Given the description of an element on the screen output the (x, y) to click on. 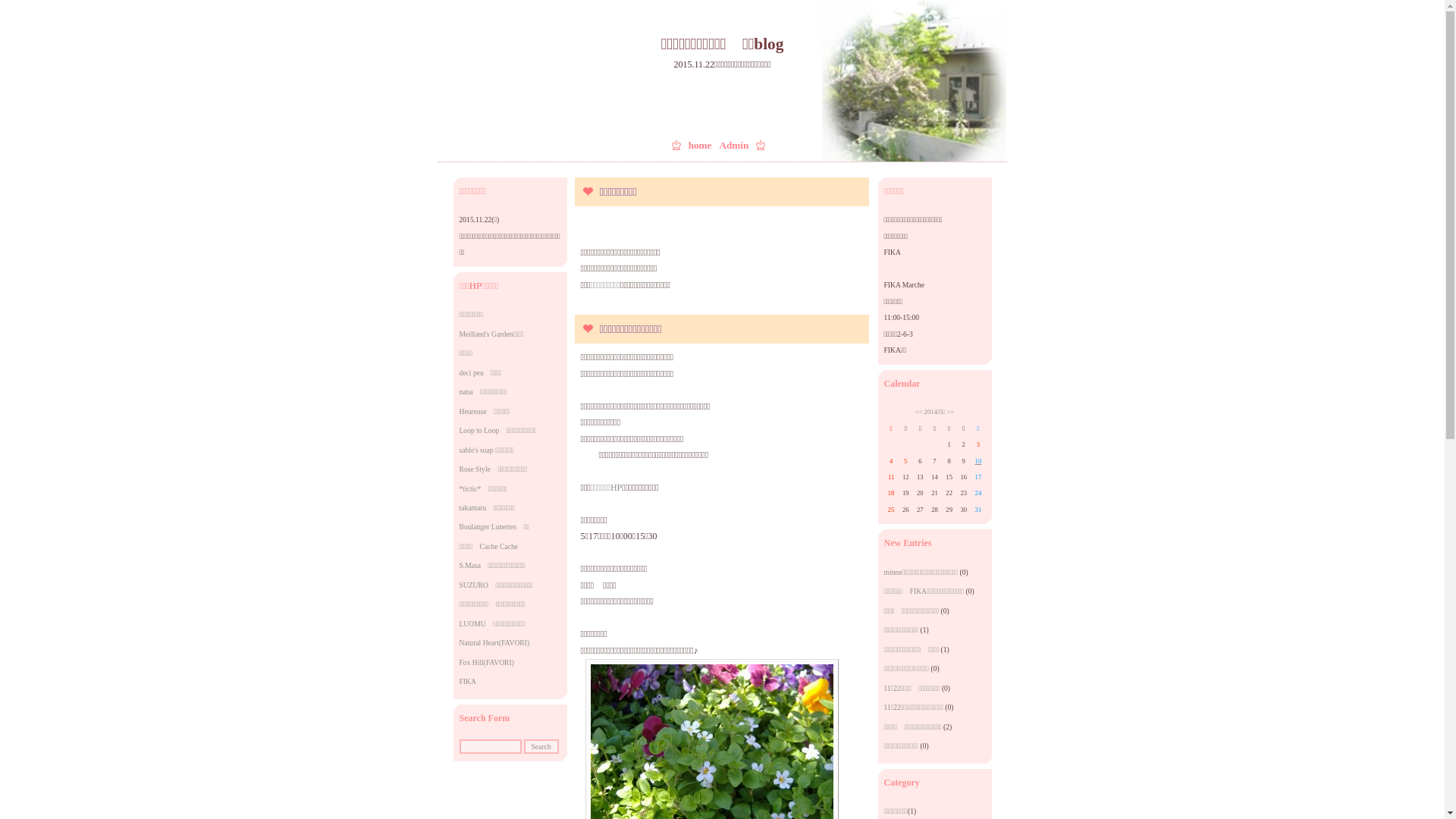
FIKA Element type: text (467, 681)
Fox Hill(FAVORI) Element type: text (486, 662)
>> Element type: text (950, 411)
Search Element type: text (540, 746)
10 Element type: text (978, 460)
<< Element type: text (918, 411)
Admin Element type: text (733, 145)
home Element type: text (700, 145)
Natural Heart(FAVORI) Element type: text (494, 642)
